Given the description of an element on the screen output the (x, y) to click on. 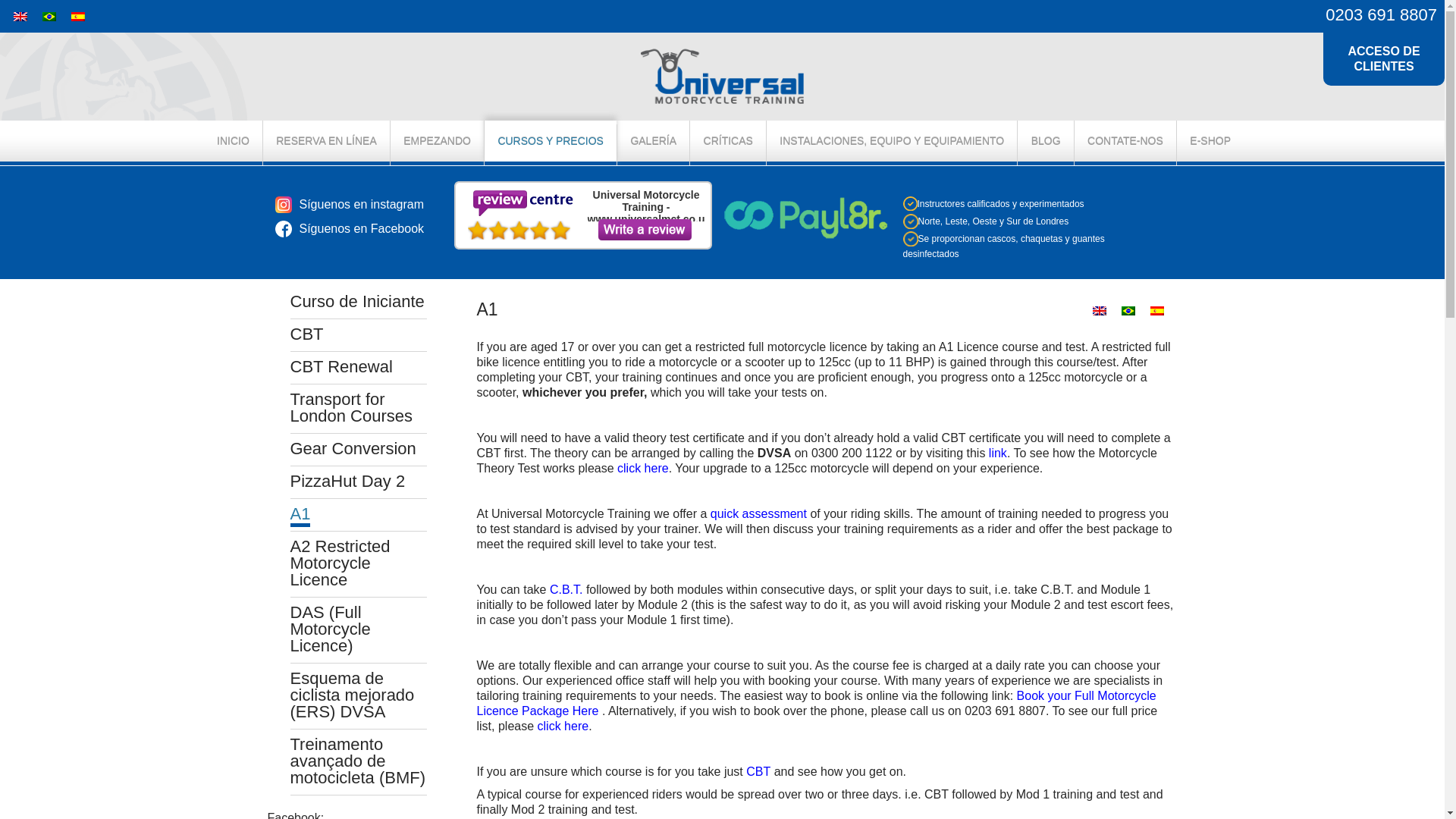
Book a riding theory test (997, 452)
Curso de Iniciante (356, 301)
BLOG (1045, 142)
CBT (306, 333)
A1 (299, 515)
Write a review (643, 229)
EMPEZANDO (436, 142)
CBT Renewal (340, 366)
INICIO (232, 142)
CONTATE-NOS (1125, 142)
